Given the description of an element on the screen output the (x, y) to click on. 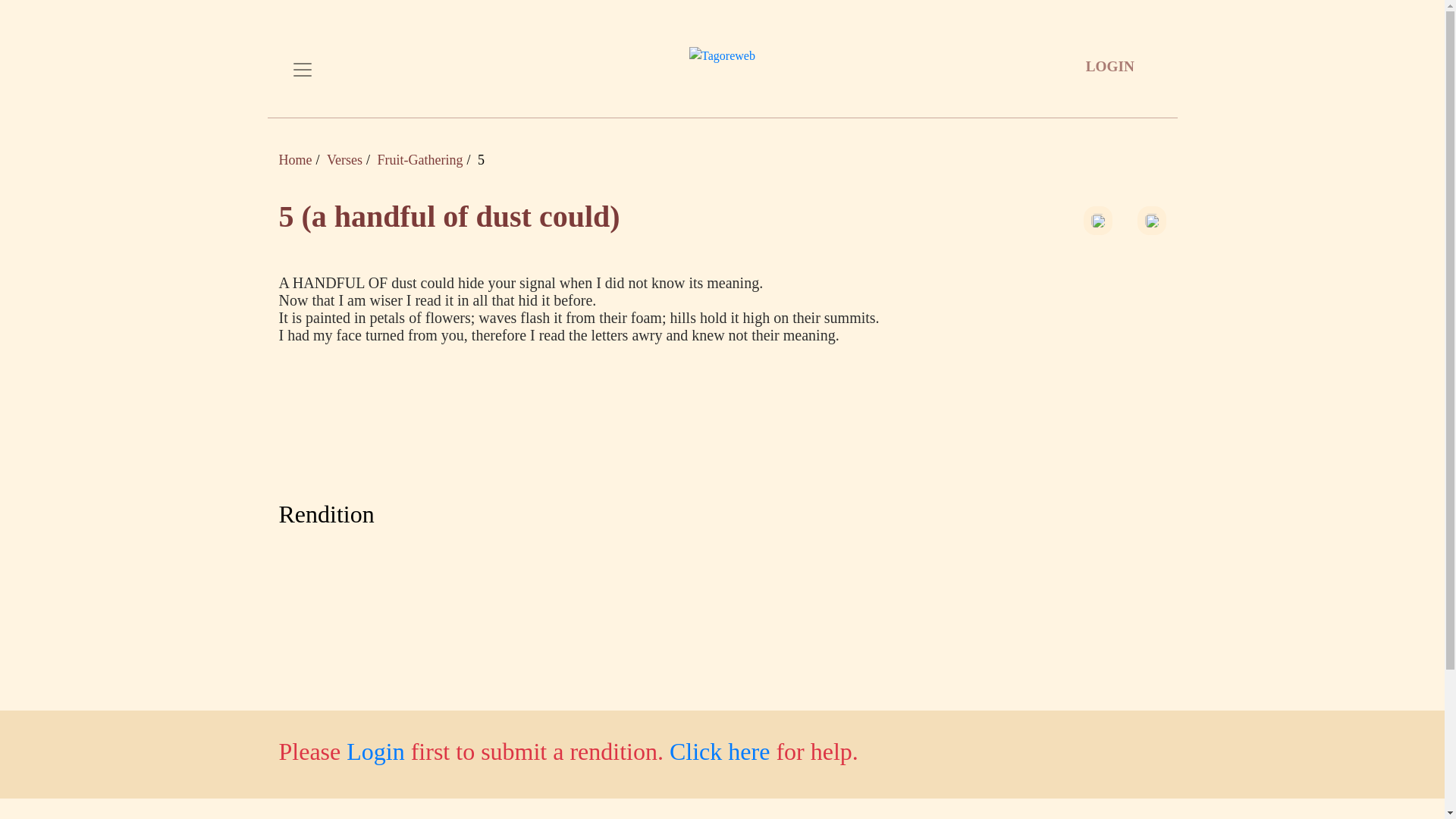
Verses (344, 159)
Home (296, 159)
Fruit-Gathering (420, 159)
Login (375, 750)
LOGIN (1109, 66)
Search (22, 11)
Click here (719, 750)
